Given the description of an element on the screen output the (x, y) to click on. 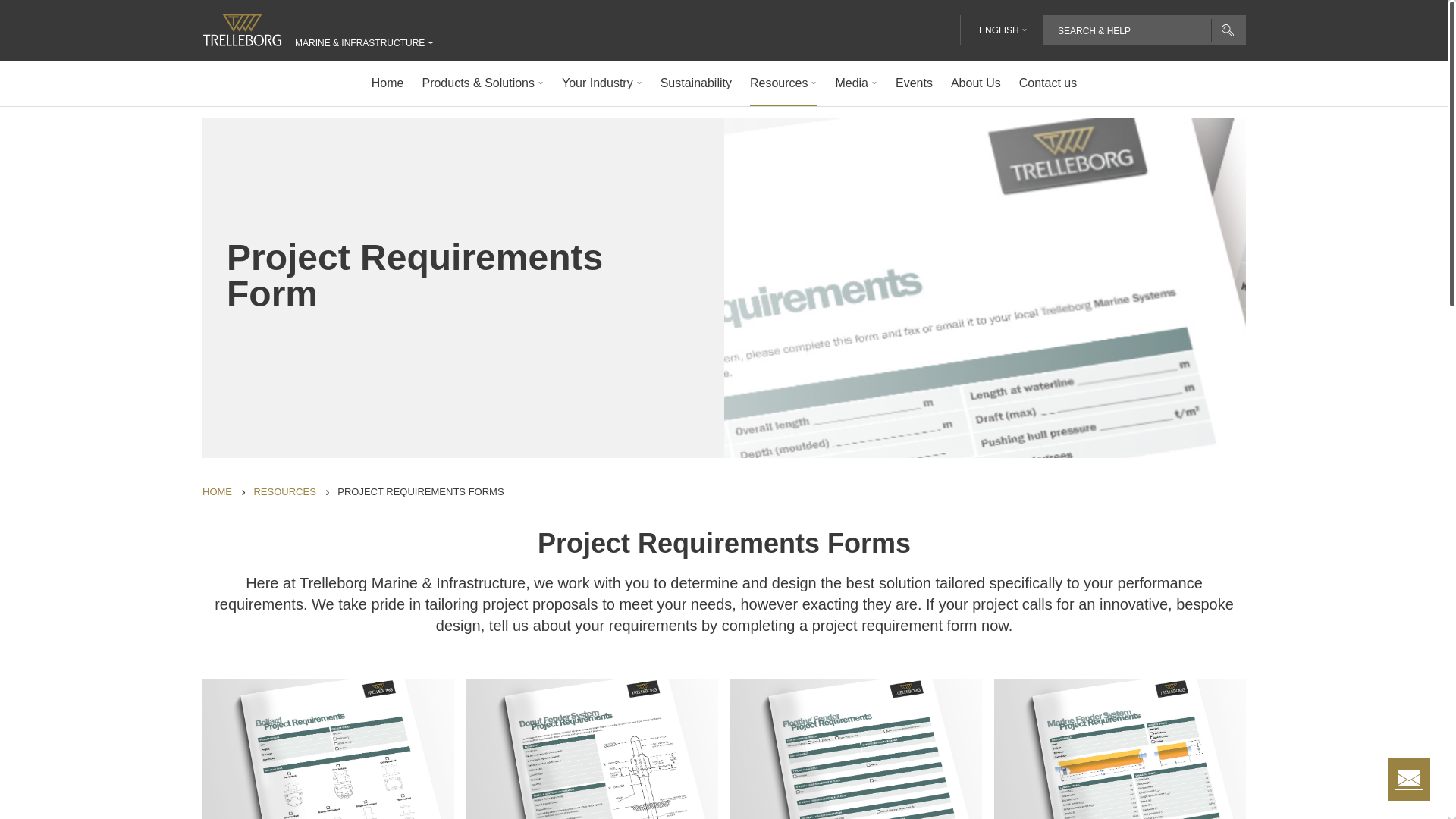
Project Requirements Forms (420, 492)
Home (216, 492)
Resources (284, 492)
